Given the description of an element on the screen output the (x, y) to click on. 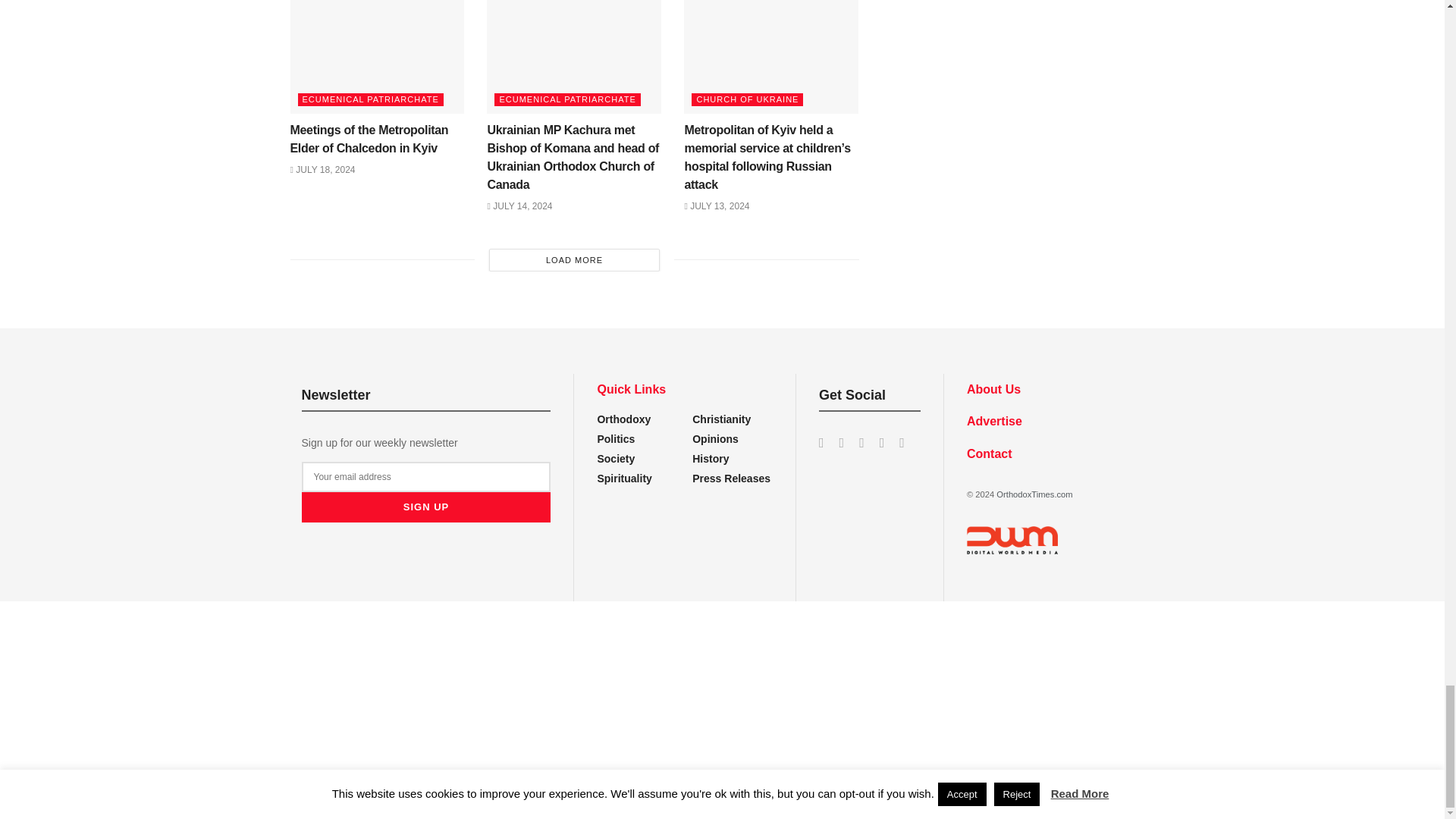
Sign up (426, 507)
OrthodoxTimes.com (1033, 493)
You can add some category description here. (731, 478)
You can add some category description here. (711, 458)
